Given the description of an element on the screen output the (x, y) to click on. 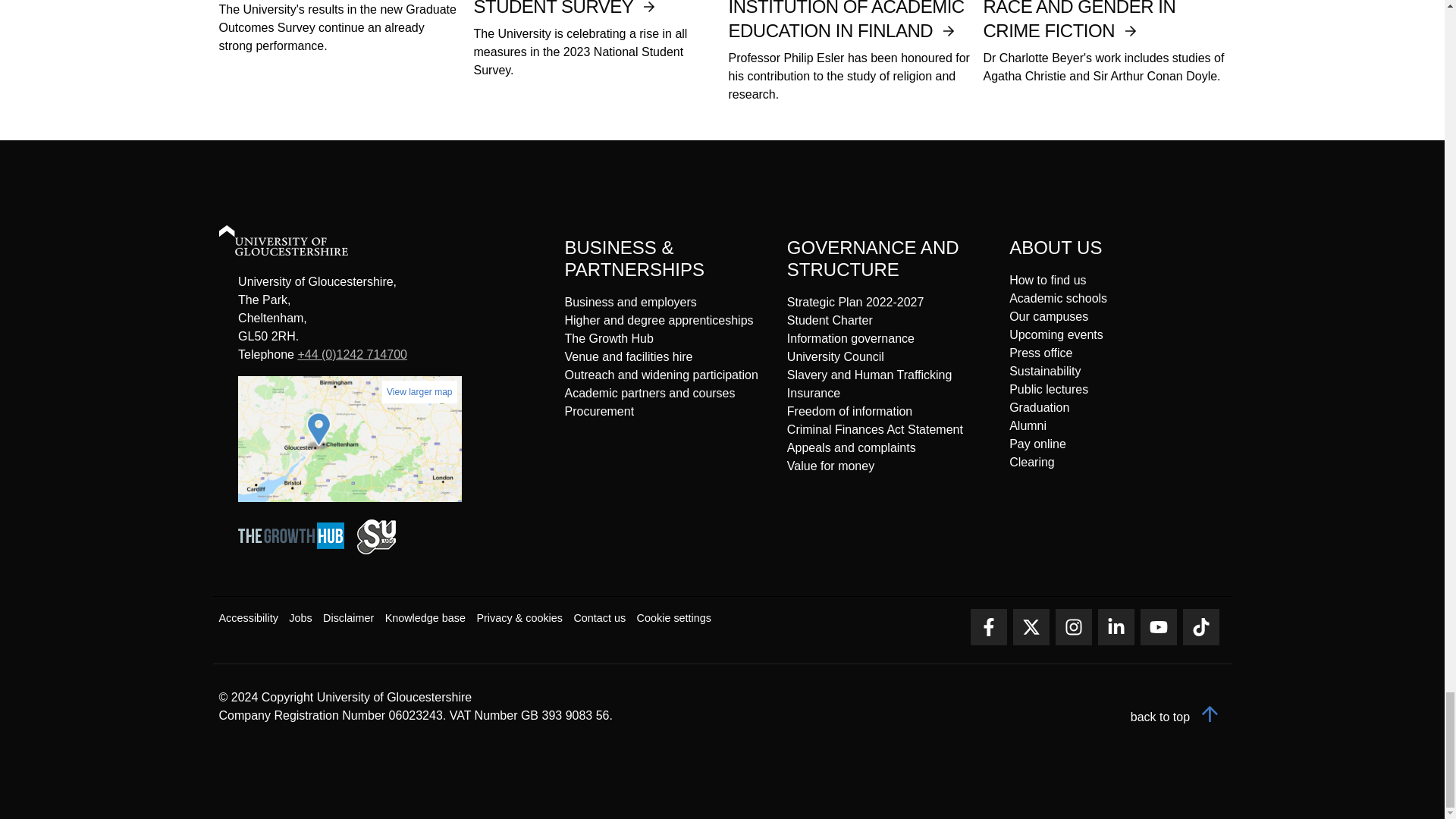
Go to The Growth Hub website. (295, 549)
Go to the Home Page (296, 243)
Connect on Facebook (989, 627)
back to top (1178, 716)
